Given the description of an element on the screen output the (x, y) to click on. 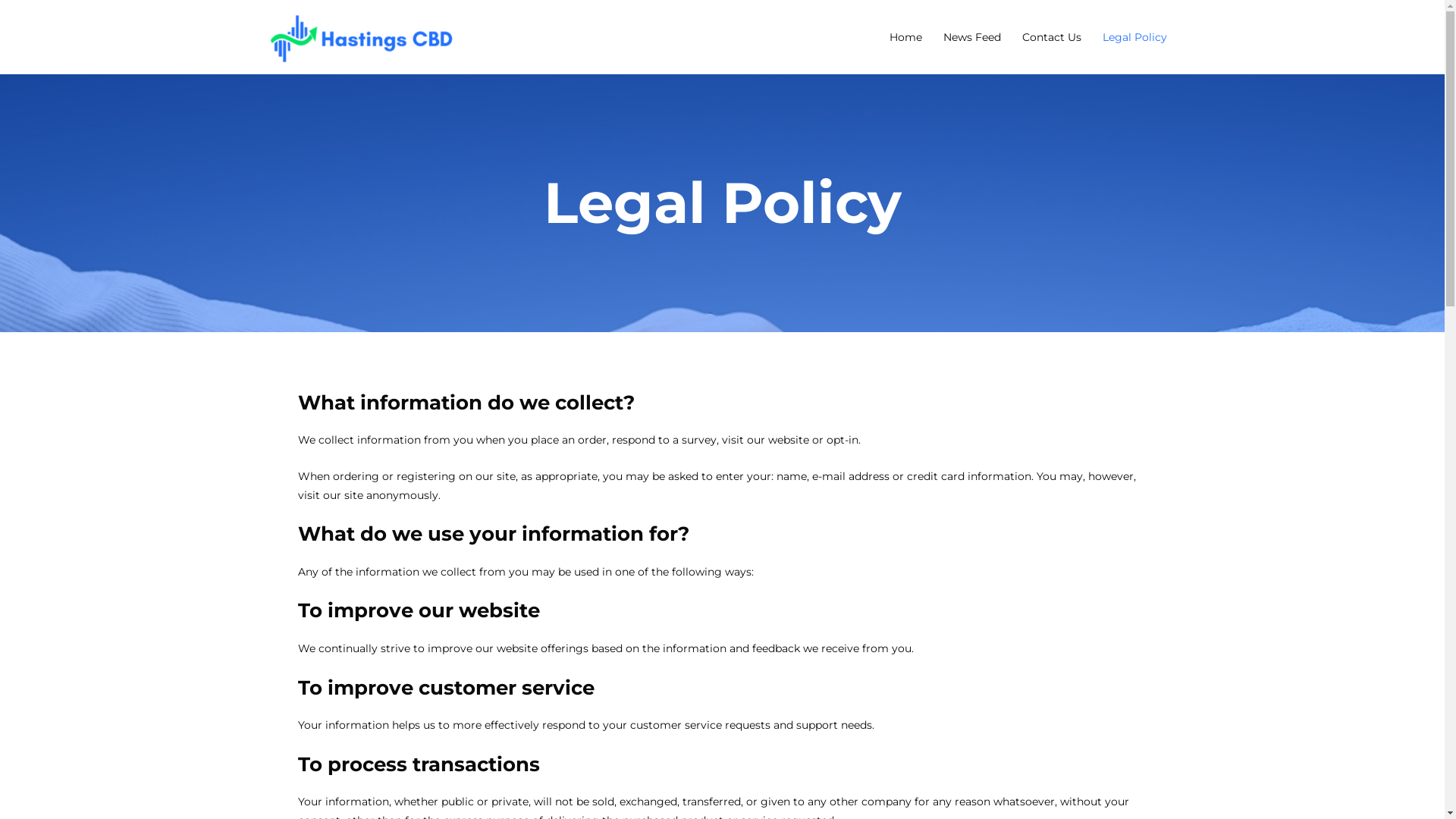
Contact Us Element type: text (1051, 36)
Legal Policy Element type: text (1134, 36)
Home Element type: text (904, 36)
News Feed Element type: text (971, 36)
